Given the description of an element on the screen output the (x, y) to click on. 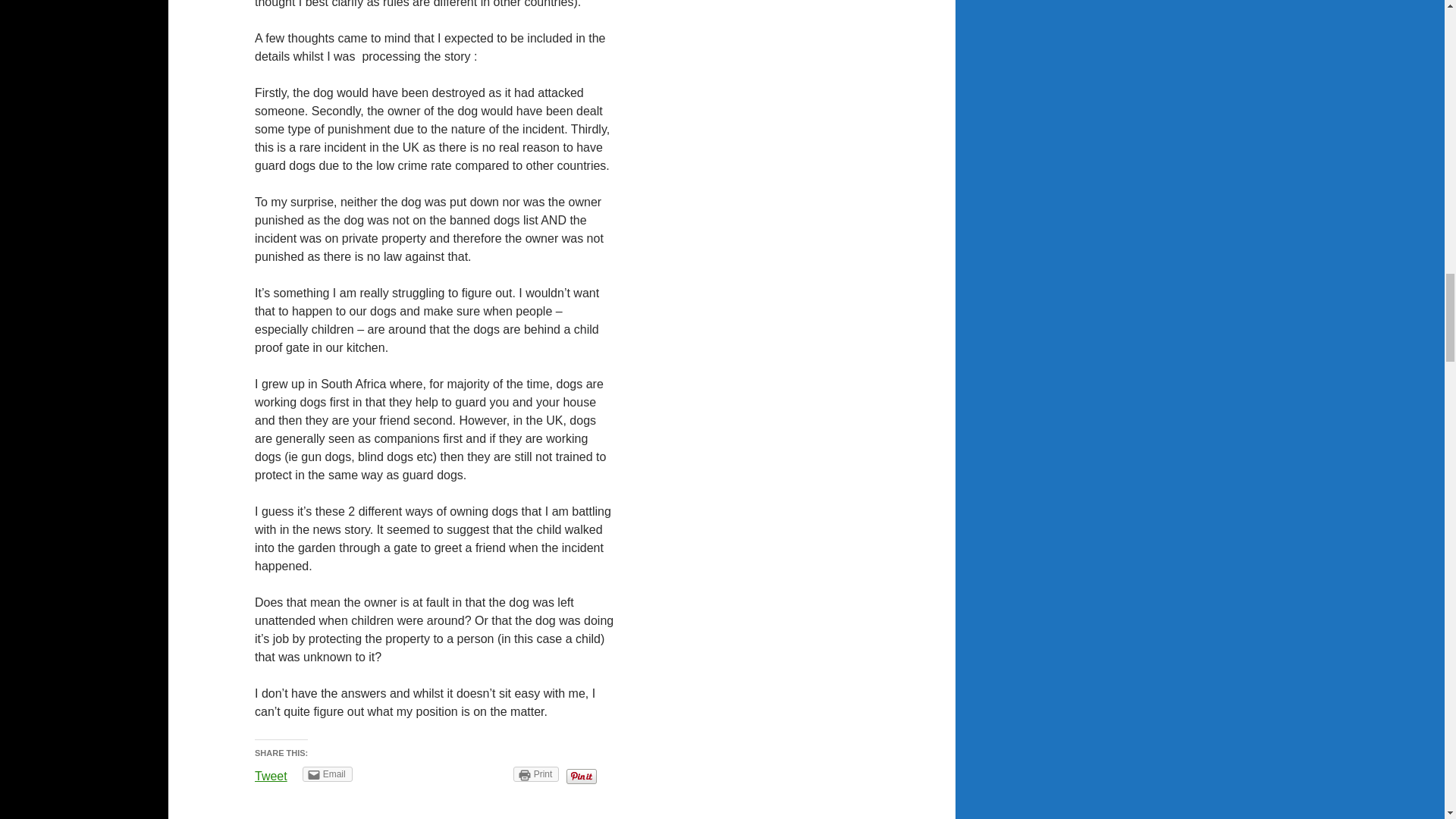
Share on Tumblr (481, 774)
Click to print (536, 774)
Click to email this to a friend (327, 774)
